Given the description of an element on the screen output the (x, y) to click on. 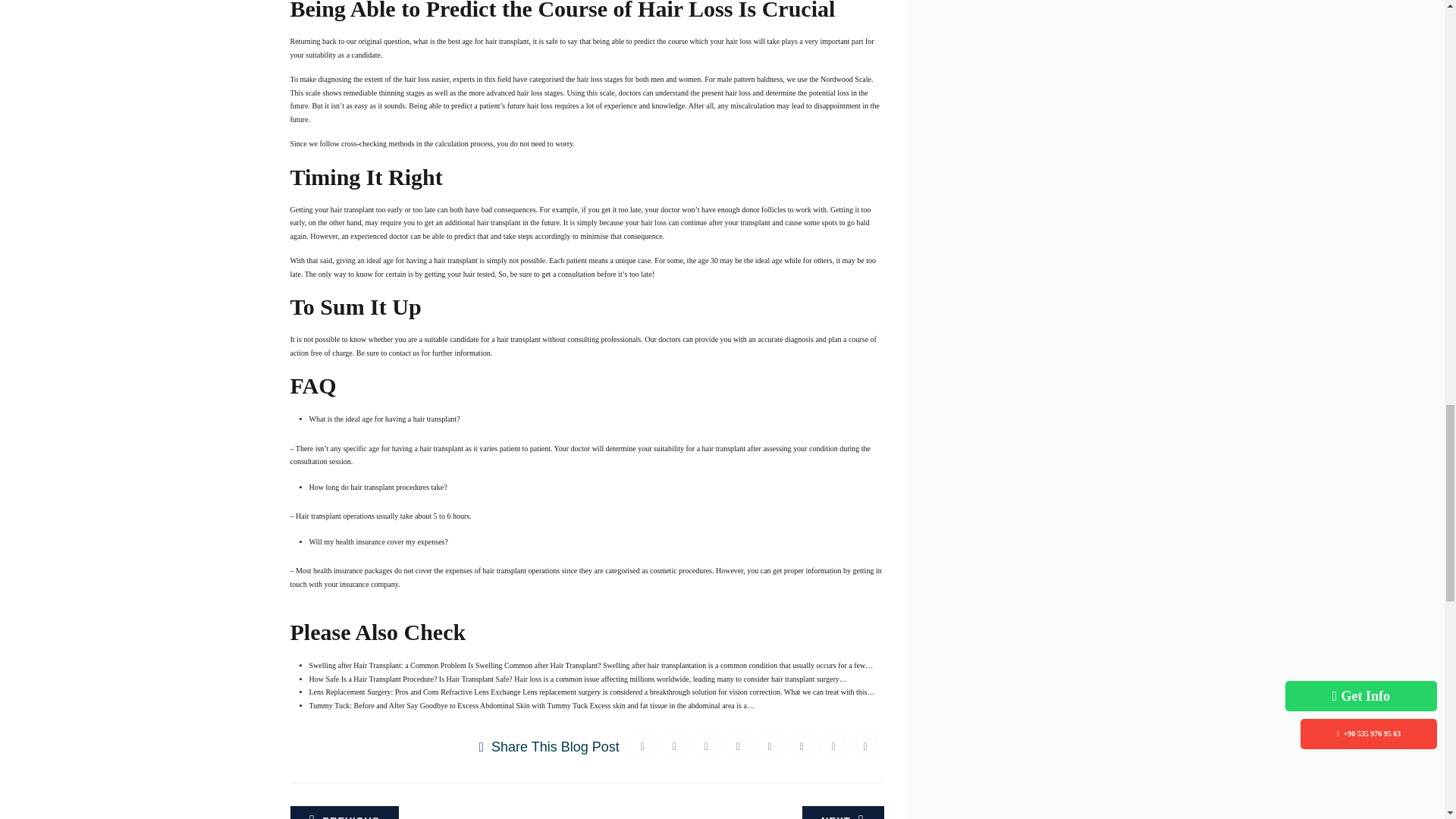
Hair Transplant Recovery Process (343, 812)
Hair Transplant For Women (842, 812)
